Given the description of an element on the screen output the (x, y) to click on. 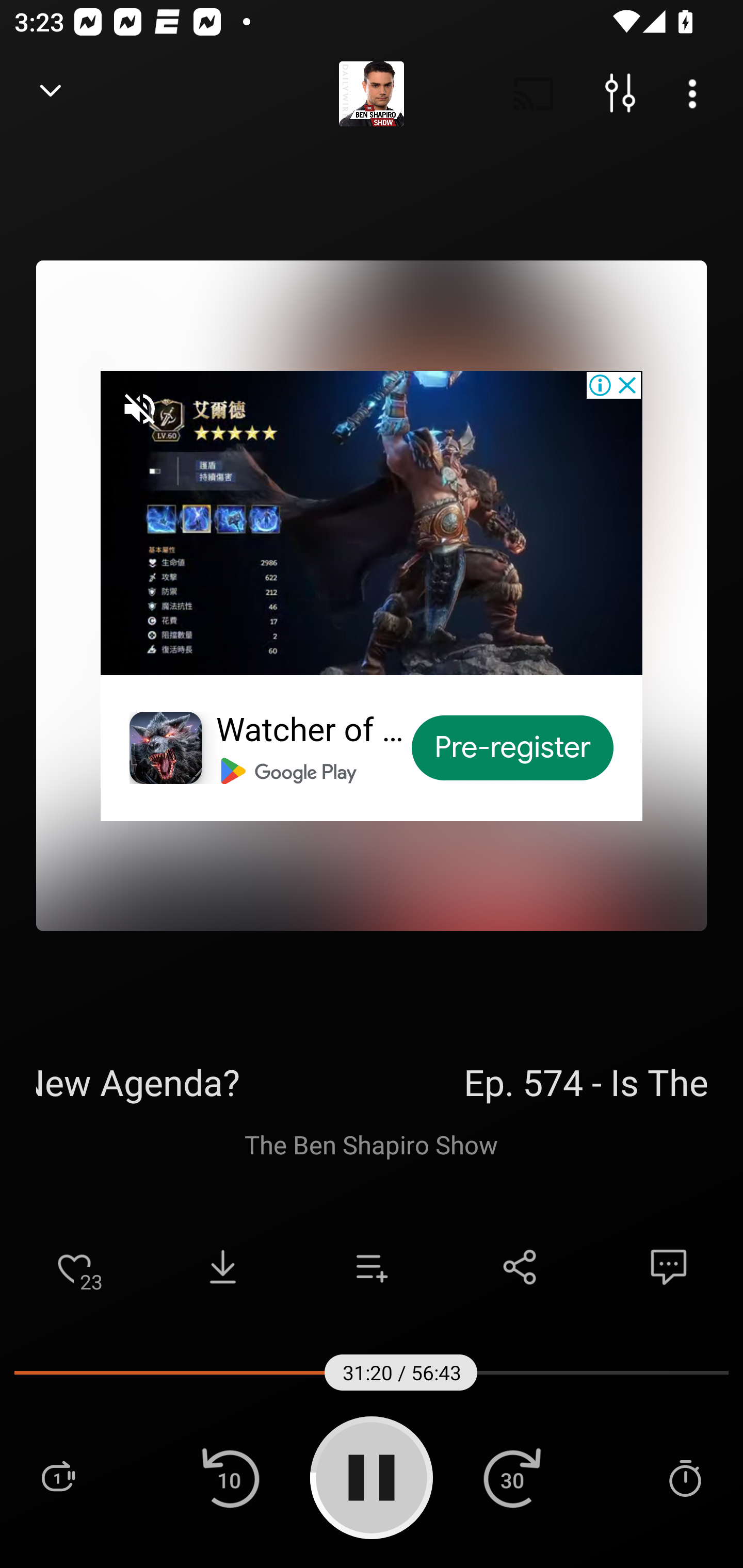
Cast. Disconnected (533, 93)
 Back (50, 94)
Watcher of … Pre-register Pre-register (371, 595)
Pre-register (512, 747)
Ep. 574 - Is The Left Creating A New Agenda? (371, 1081)
The Ben Shapiro Show (371, 1144)
Comments (668, 1266)
Add to Favorites (73, 1266)
Add to playlist (371, 1266)
Share (519, 1266)
 Playlist (57, 1477)
Sleep Timer  (684, 1477)
